Given the description of an element on the screen output the (x, y) to click on. 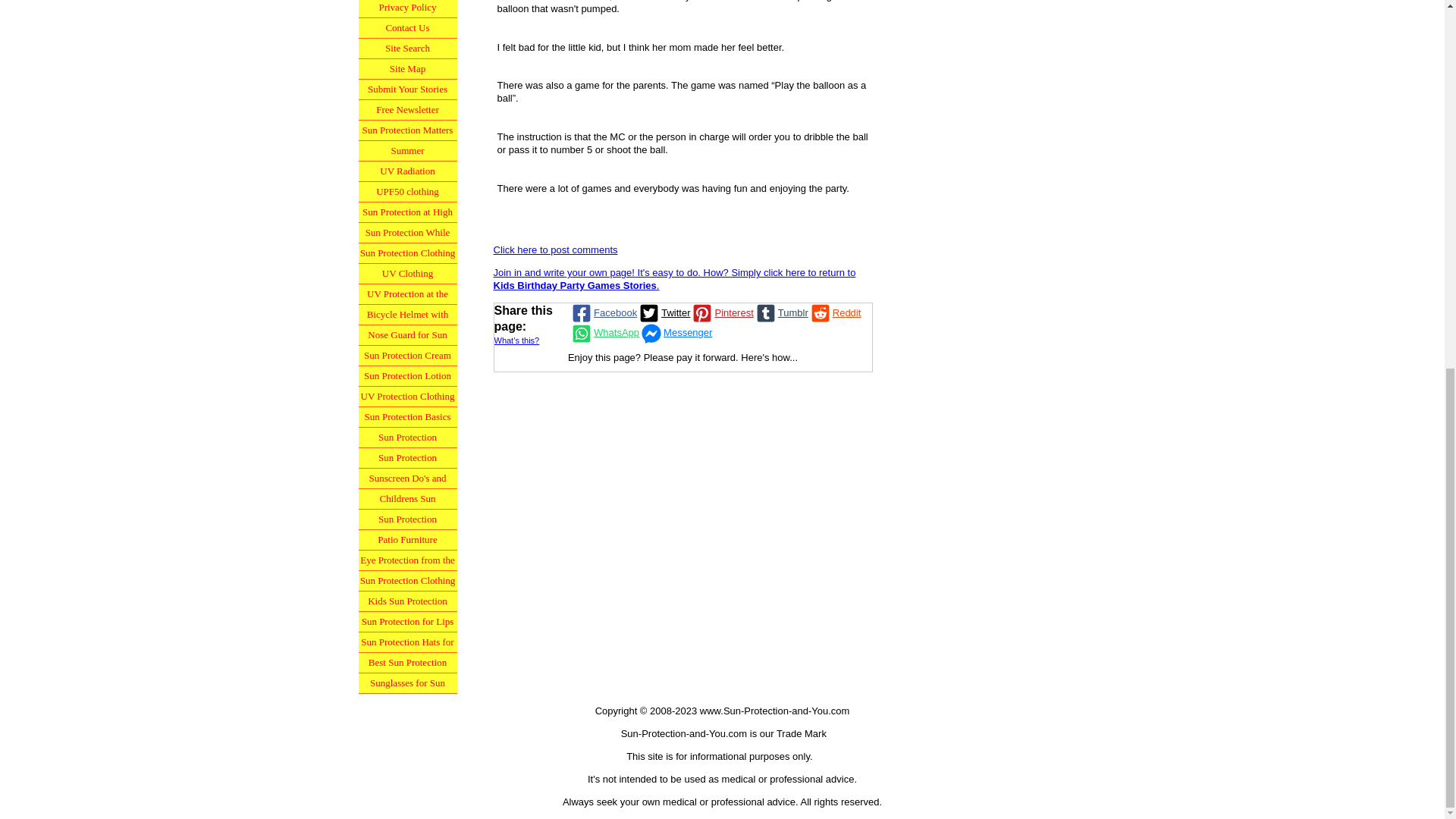
Tumblr (781, 313)
Facebook (603, 313)
Site Map (407, 68)
Twitter (663, 313)
Privacy Policy (407, 9)
Contact Us (407, 28)
Reddit (834, 313)
Messenger (675, 332)
Click here to post comments (555, 249)
Site Search (407, 48)
WhatsApp (604, 332)
Pinterest (721, 313)
